Given the description of an element on the screen output the (x, y) to click on. 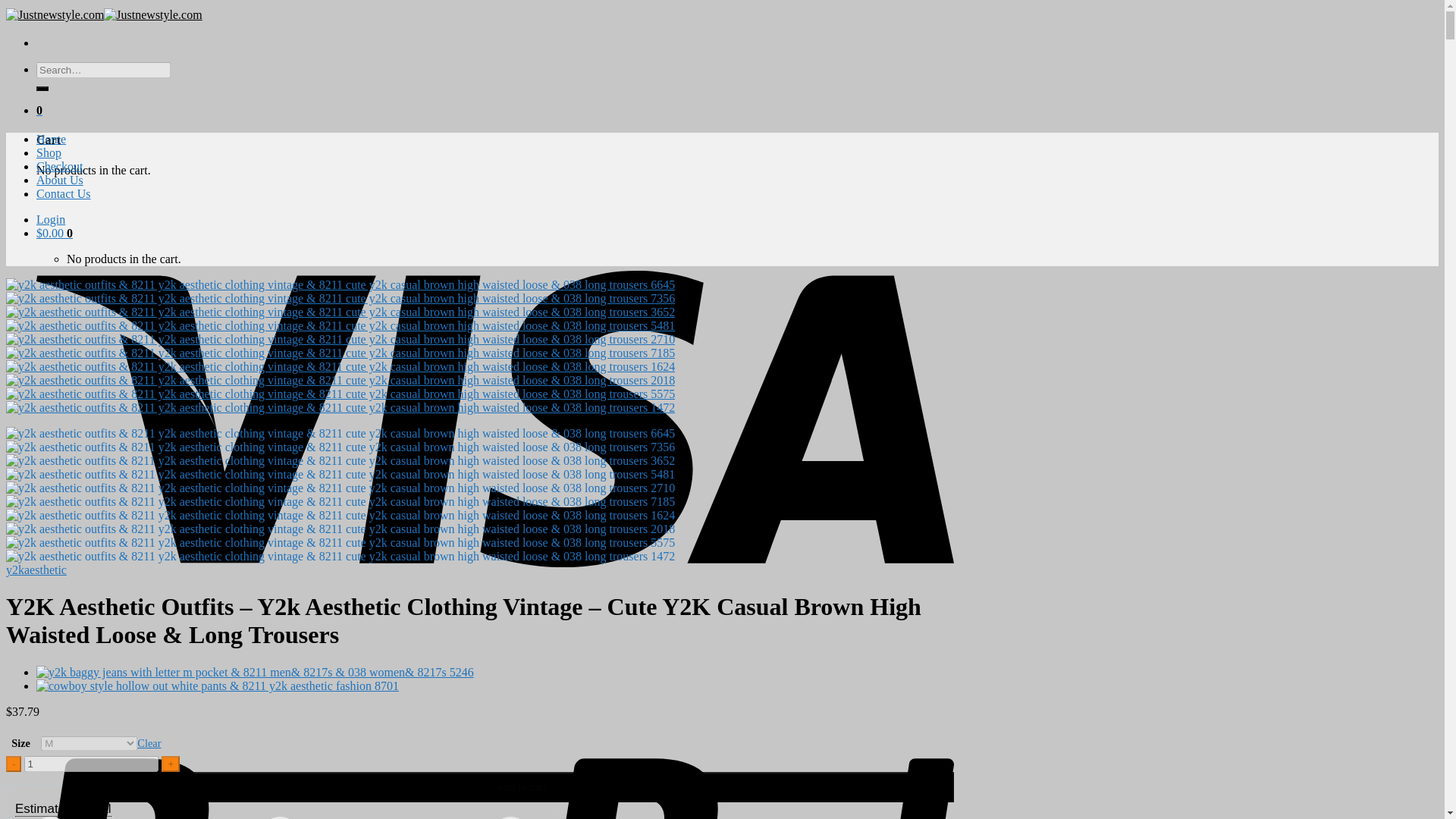
Cart (54, 232)
Home (50, 138)
Shop (48, 152)
Login (50, 219)
About Us (59, 179)
1 (91, 763)
y2kaesthetic (35, 569)
Contact Us (63, 193)
- (13, 763)
Checkout (59, 165)
Clear (148, 743)
Search (42, 88)
